Given the description of an element on the screen output the (x, y) to click on. 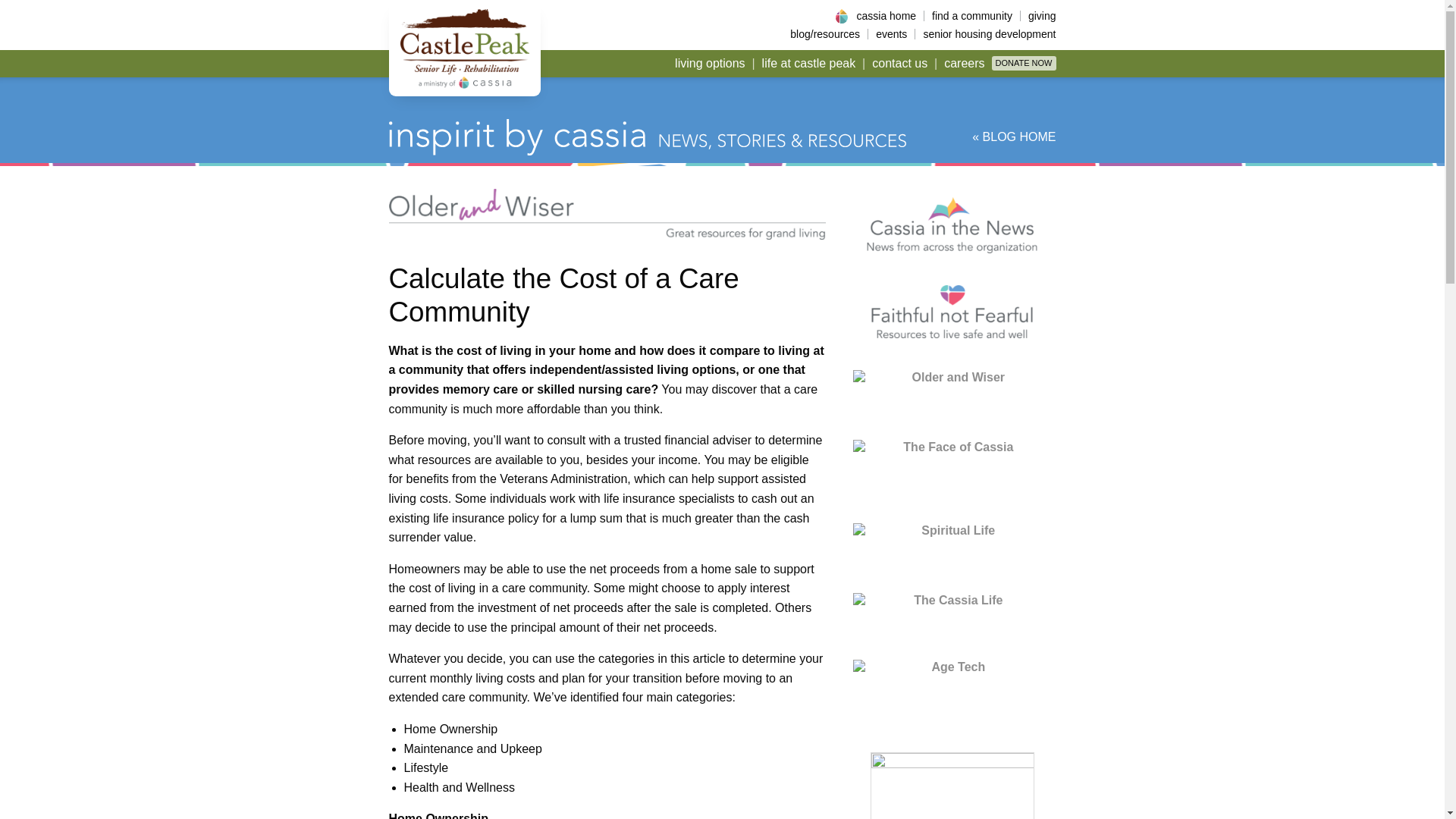
giving (1038, 15)
cassia home (885, 15)
events (890, 33)
find a community (971, 15)
senior housing development (984, 33)
life at castle peak (809, 63)
DONATE NOW (1024, 63)
contact us (899, 63)
careers (964, 63)
living options (710, 63)
